Given the description of an element on the screen output the (x, y) to click on. 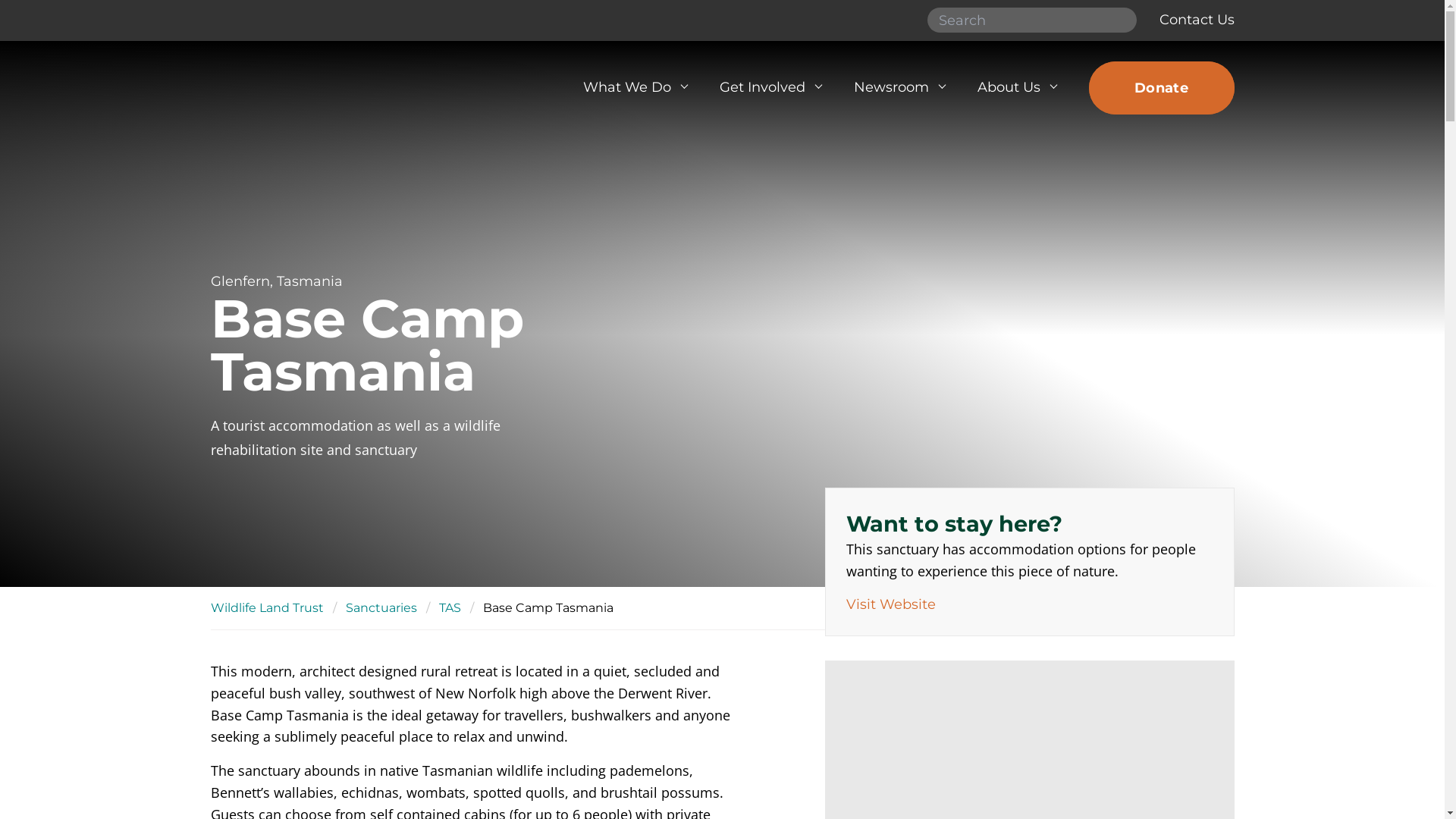
TAS Element type: text (449, 607)
Get Involved Element type: text (769, 87)
Humane Society International (HSI) Element type: hover (316, 87)
Donate Element type: text (1161, 87)
Newsroom Element type: text (897, 87)
Visit Website Element type: text (890, 604)
About Us Element type: text (1016, 87)
Submit Element type: text (1119, 19)
What We Do Element type: text (633, 87)
Sanctuaries Element type: text (381, 607)
Contact Us Element type: text (1195, 19)
Wildlife Land Trust Element type: text (266, 607)
Close Element type: text (1210, 80)
